Given the description of an element on the screen output the (x, y) to click on. 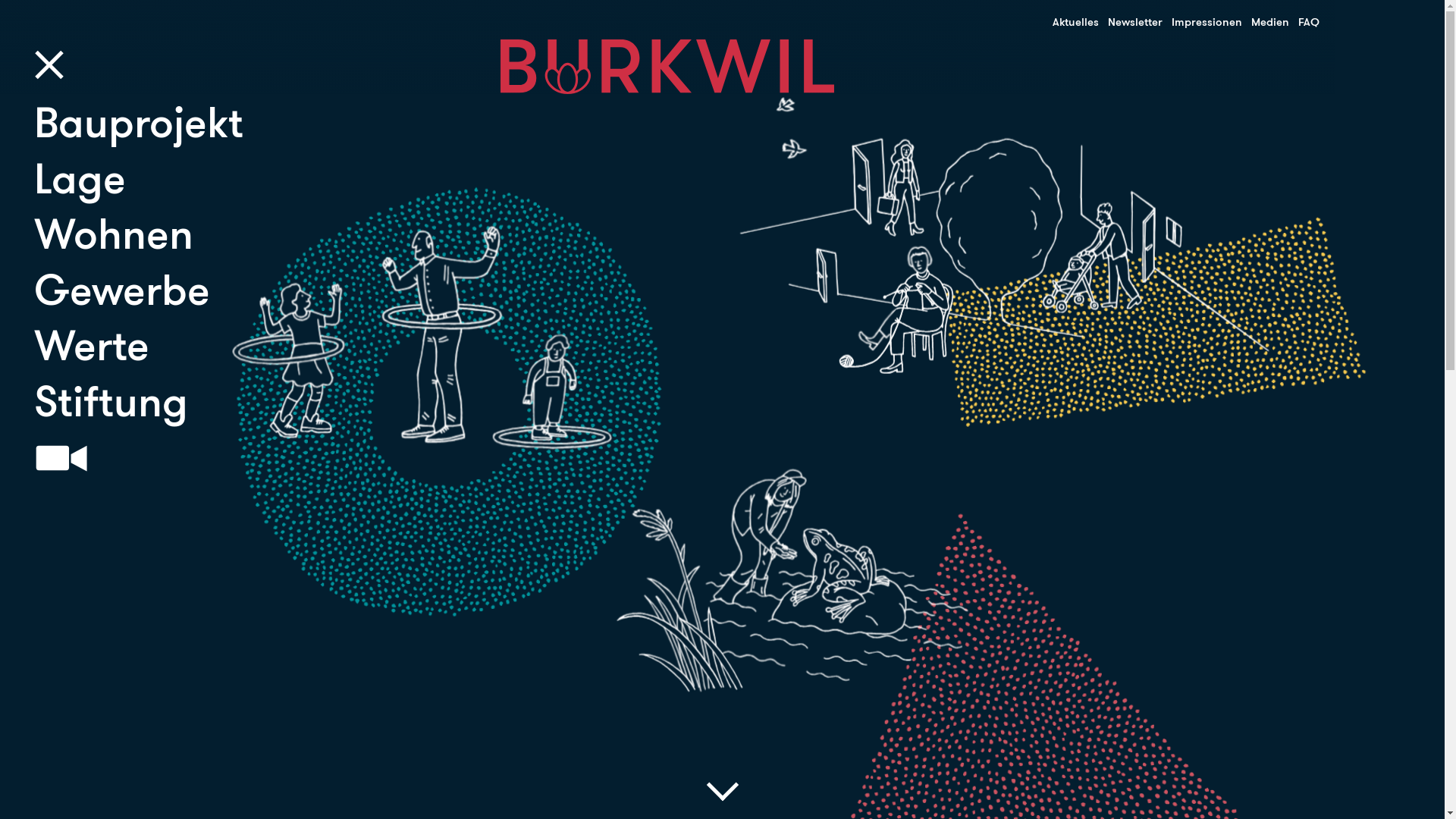
Bauprojekt Element type: text (136, 123)
Medien Element type: text (1265, 22)
Werte Element type: text (136, 346)
Stiftung Element type: text (136, 402)
Newsletter Element type: text (1130, 22)
Gewerbe Element type: text (136, 290)
FAQ Element type: text (1304, 22)
Wohnen Element type: text (136, 234)
Lage Element type: text (136, 179)
Aktuelles Element type: text (1070, 22)
